Given the description of an element on the screen output the (x, y) to click on. 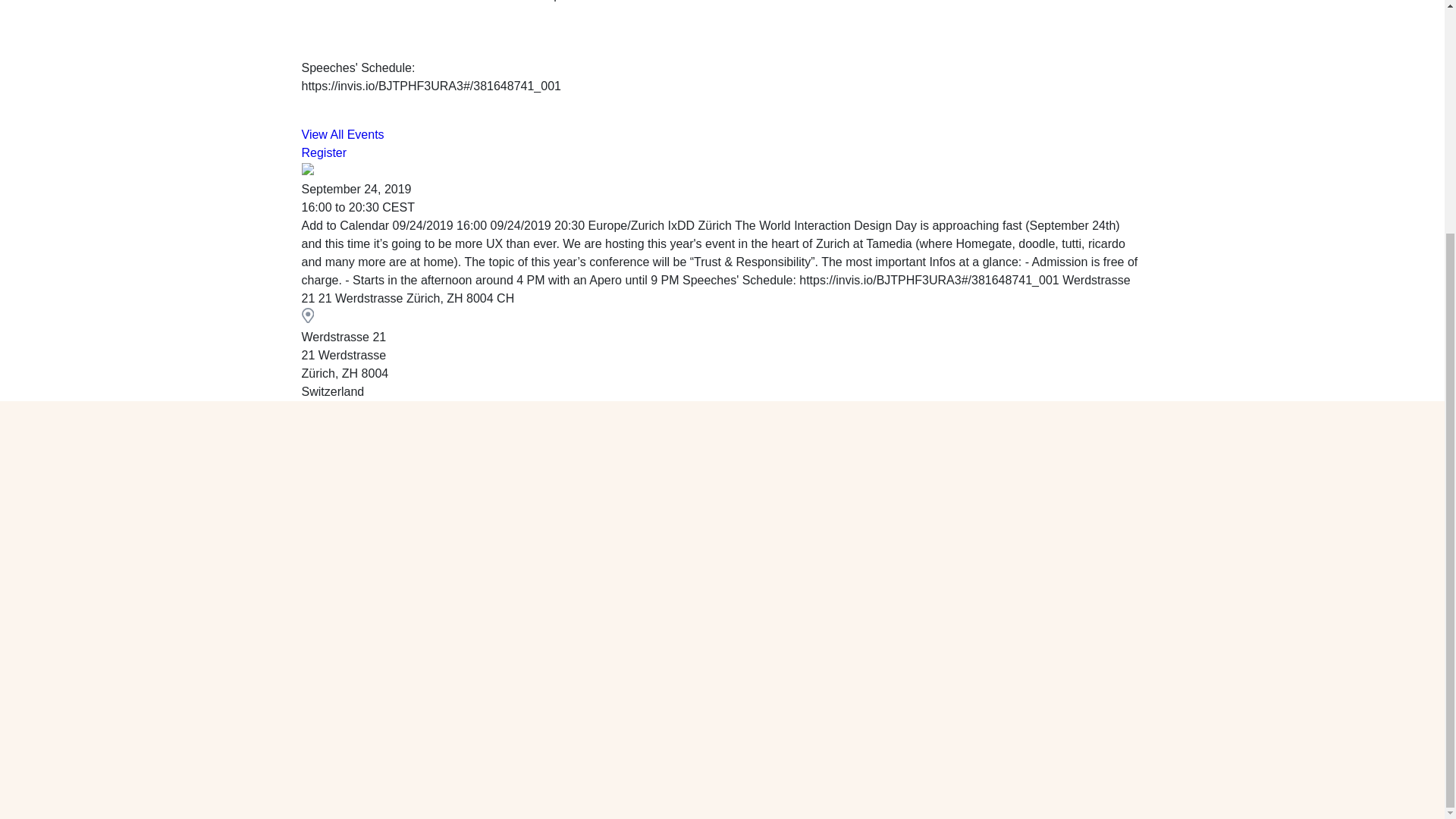
Add to Calendar (721, 262)
Register (324, 152)
View All Events (342, 133)
